Given the description of an element on the screen output the (x, y) to click on. 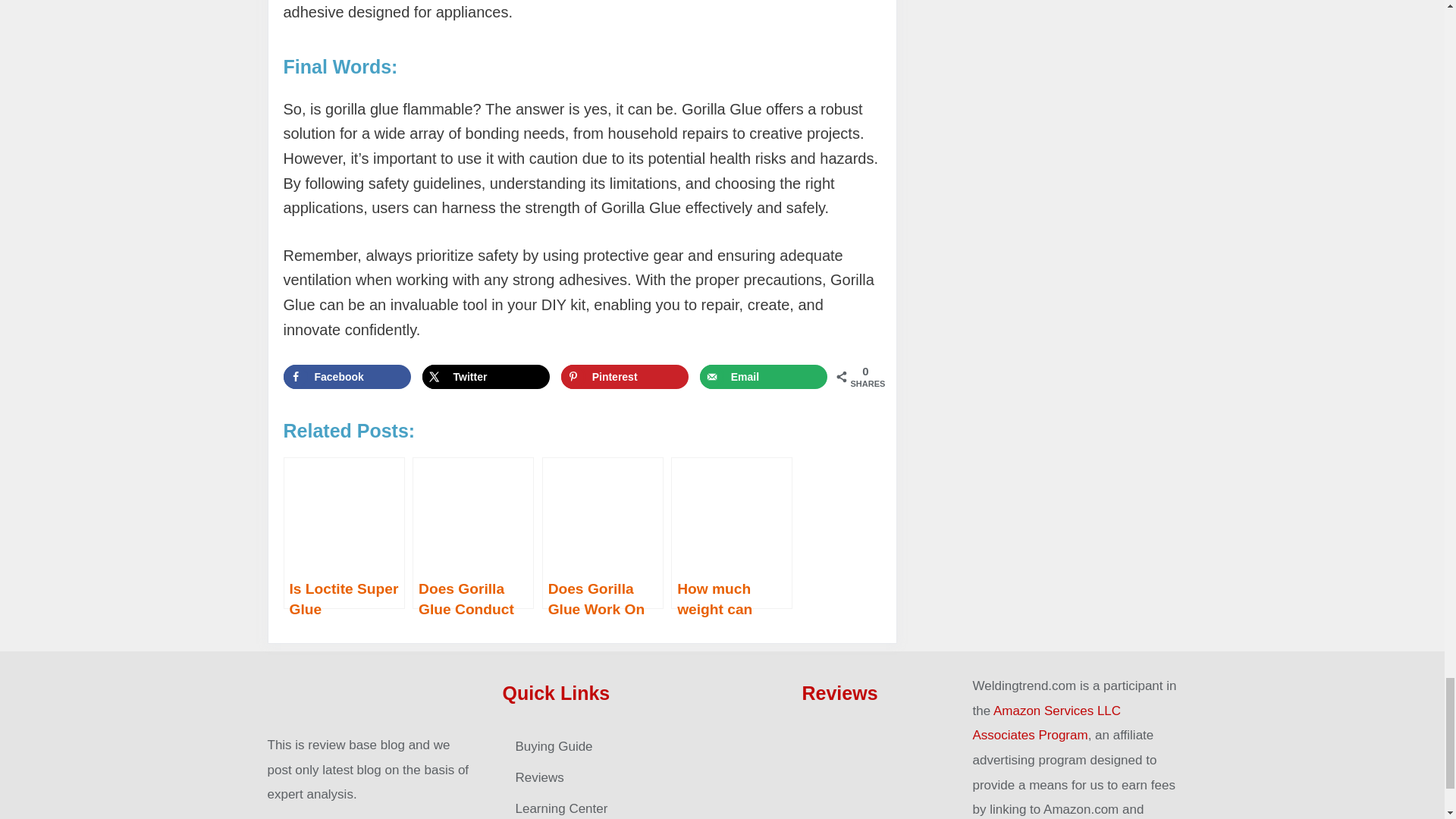
Is Loctite Super Glue Flammable? (343, 533)
Amazon Services LLC Associates Program (1046, 722)
Email (764, 376)
Does Gorilla Glue Work On Plastic? (602, 533)
Twitter (486, 376)
Share on Facebook (347, 376)
Does Gorilla Glue Work On Plastic? (602, 533)
Pinterest (624, 376)
Send over email (764, 376)
How much weight can gorilla glue hold? (731, 533)
Share on X (486, 376)
Does Gorilla Glue Conduct Electricity? (473, 533)
Facebook (347, 376)
Save to Pinterest (624, 376)
How much weight can gorilla glue hold? (731, 533)
